Given the description of an element on the screen output the (x, y) to click on. 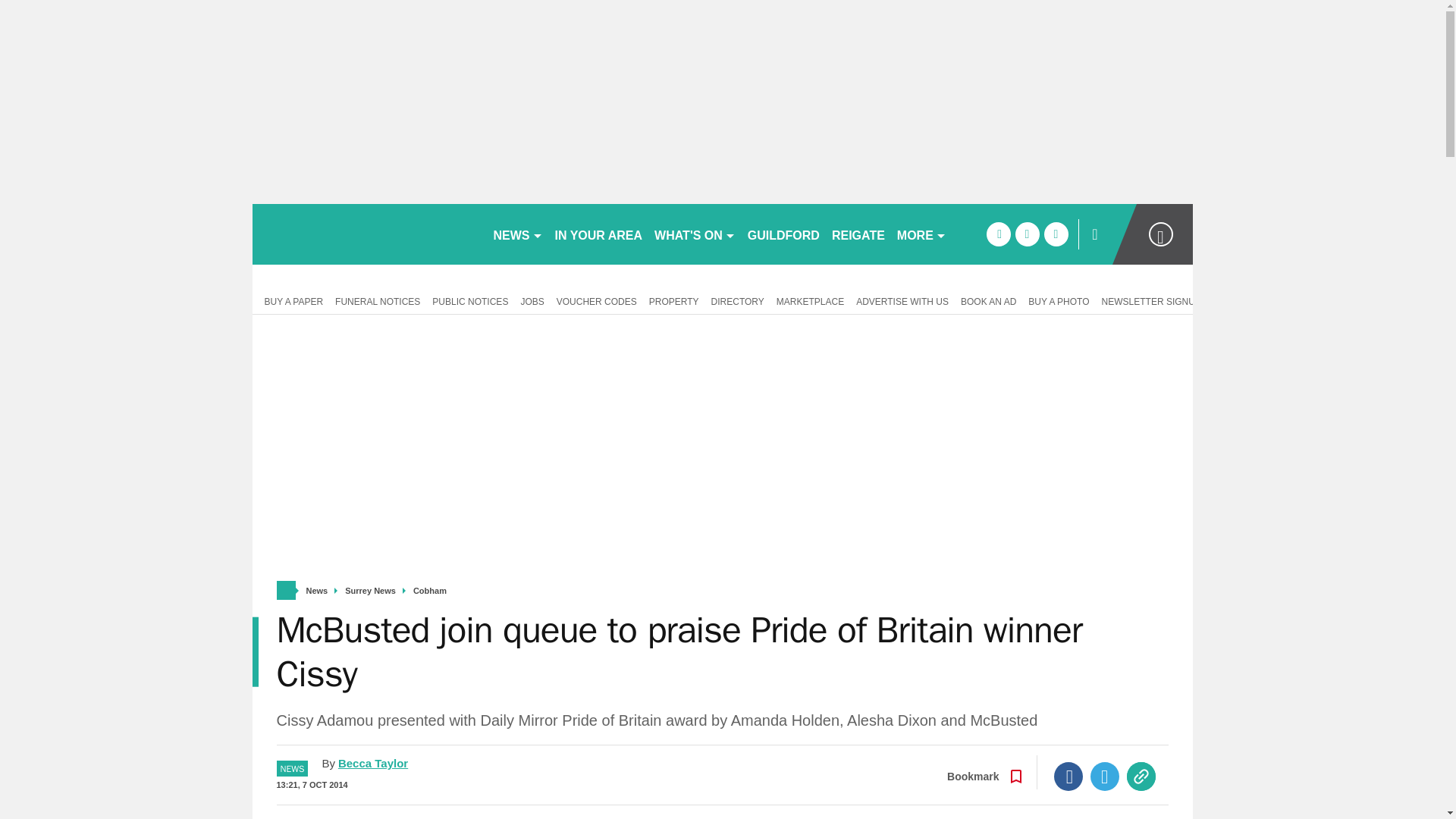
IN YOUR AREA (598, 233)
twitter (1026, 233)
getsurrey (365, 233)
JOBS (531, 300)
PROPERTY (673, 300)
Facebook (1068, 776)
Twitter (1104, 776)
GUILDFORD (783, 233)
WHAT'S ON (694, 233)
MORE (921, 233)
